Given the description of an element on the screen output the (x, y) to click on. 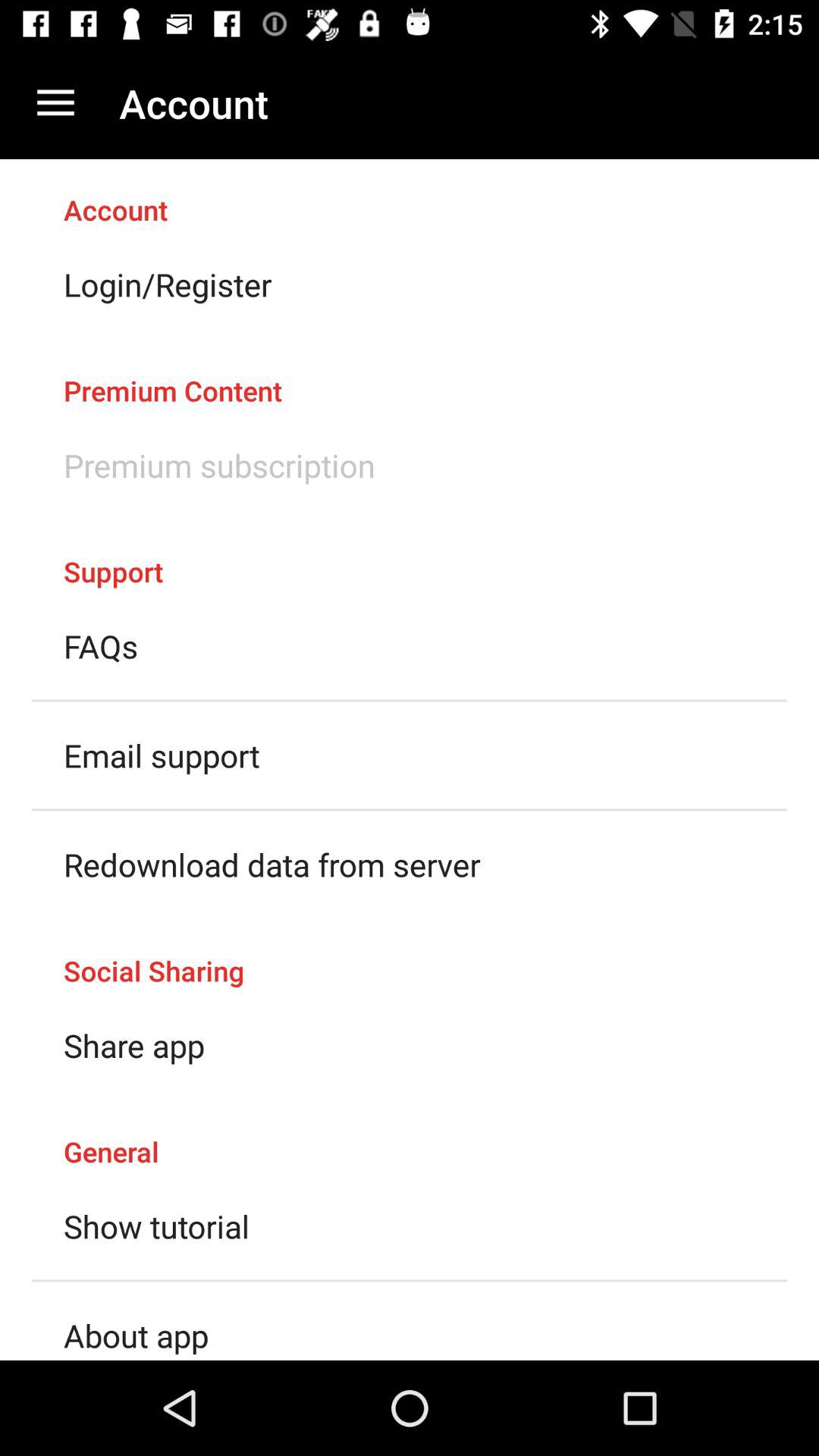
choose the share app (133, 1044)
